Given the description of an element on the screen output the (x, y) to click on. 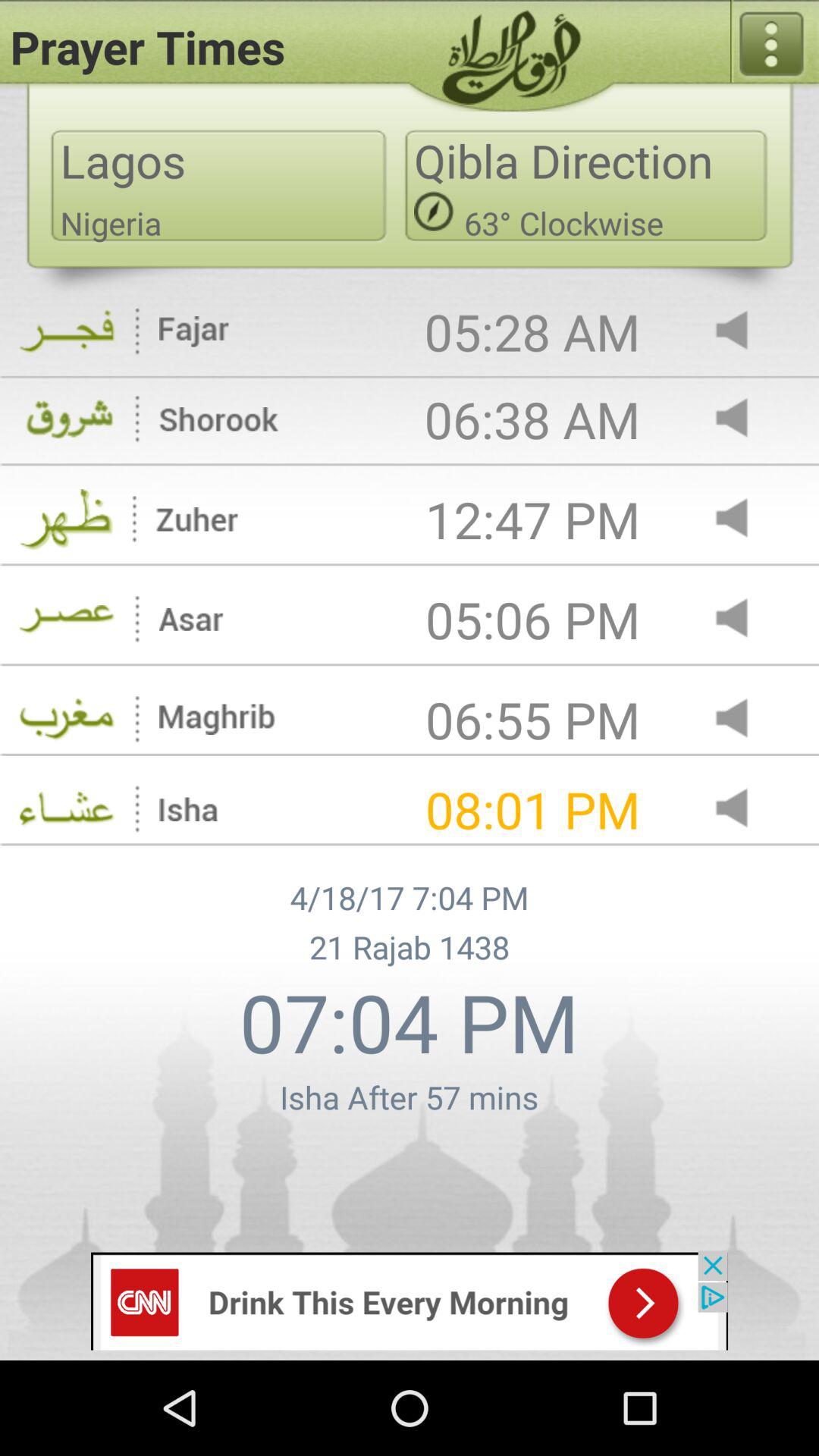
toggle volume option (744, 809)
